Given the description of an element on the screen output the (x, y) to click on. 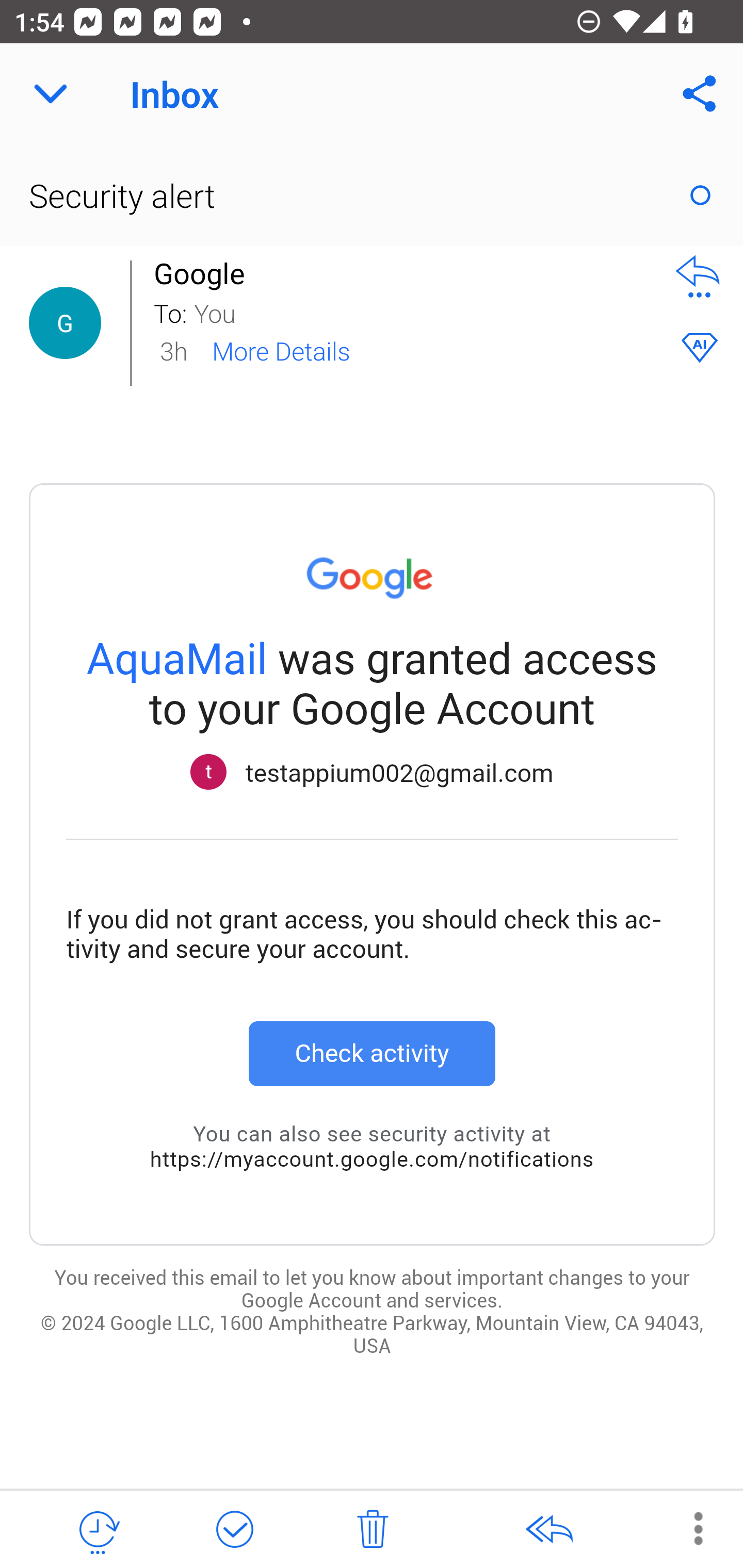
Navigate up (50, 93)
Share (699, 93)
Mark as Read (699, 194)
Google (204, 273)
Contact Details (64, 322)
You (422, 311)
More Details (280, 349)
Check activity (371, 1052)
More Options (687, 1528)
Snooze (97, 1529)
Mark as Done (234, 1529)
Delete (372, 1529)
Reply All (548, 1529)
